Given the description of an element on the screen output the (x, y) to click on. 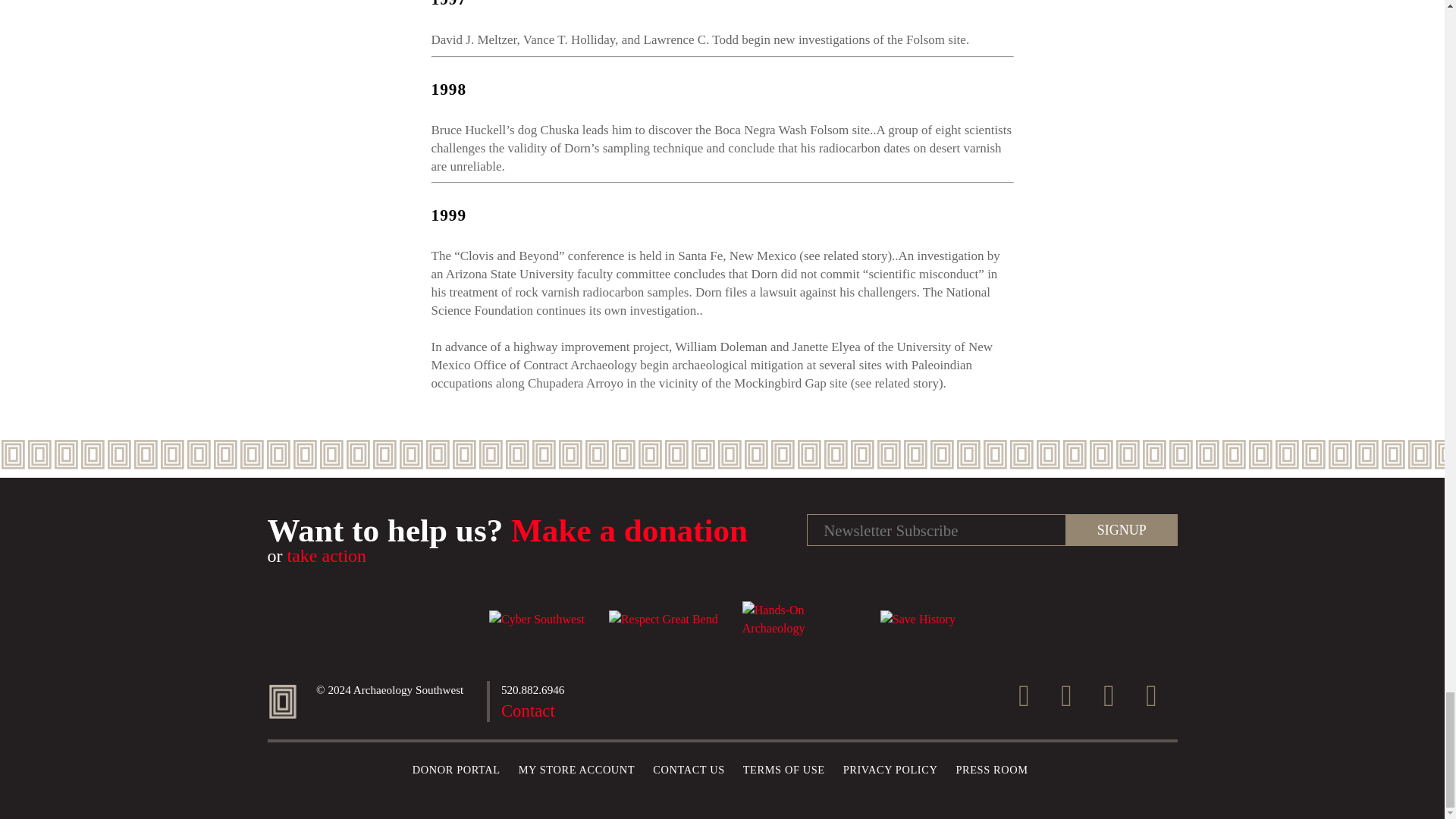
Signup (1120, 530)
